Given the description of an element on the screen output the (x, y) to click on. 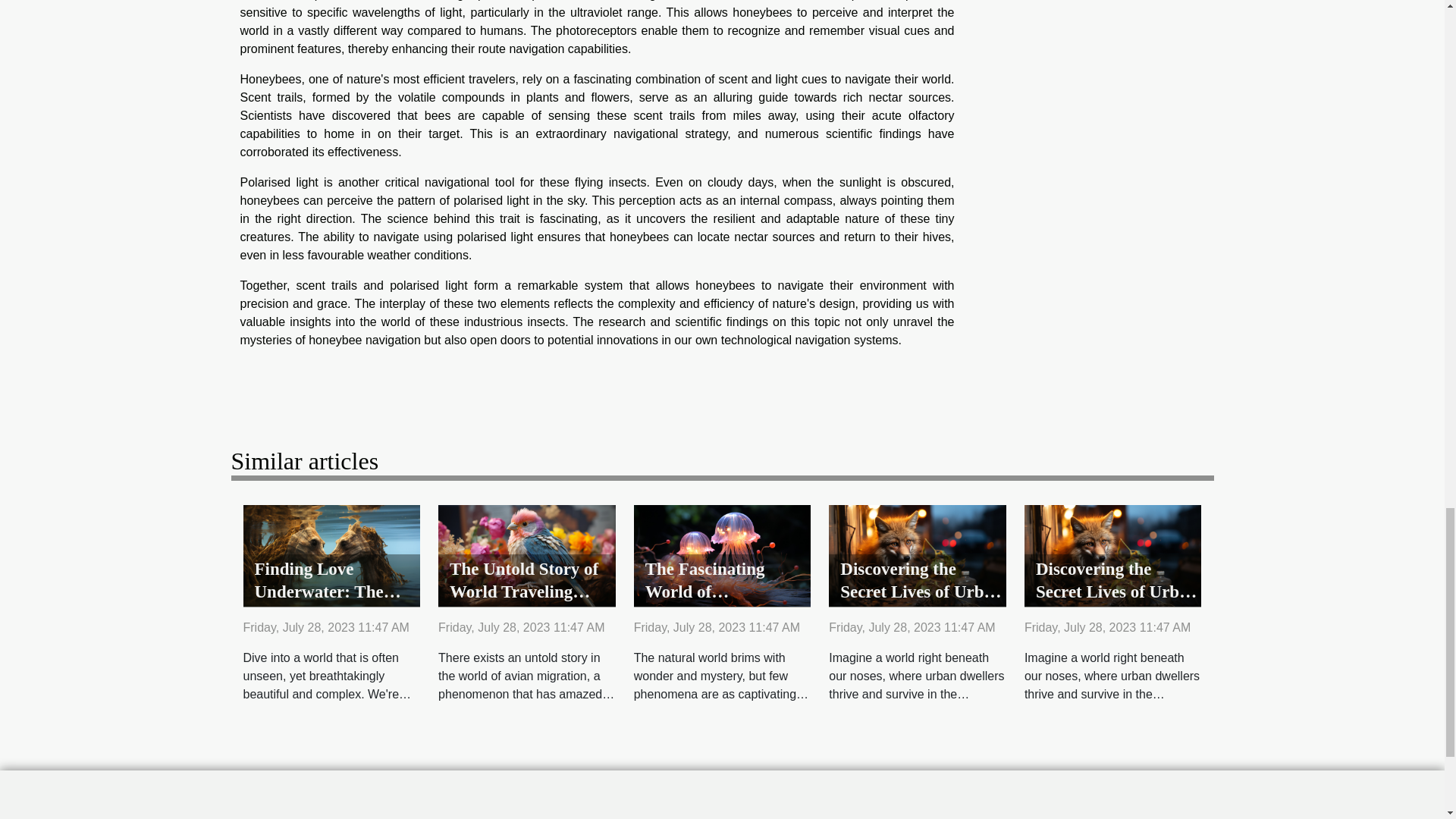
The Untold Story of World Traveling Birds (526, 554)
Discovering the Secret Lives of Urban Foxes (1116, 591)
Discovering the Secret Lives of Urban Foxes (921, 591)
Finding Love Underwater: The Mating Rituals of Sea Horses (335, 603)
Finding Love Underwater: The Mating Rituals of Sea Horses (331, 554)
Discovering the Secret Lives of Urban Foxes (917, 554)
The Fascinating World of Bioluminescent Creatures (705, 603)
The Untold Story of World Traveling Birds (523, 591)
Discovering the Secret Lives of Urban Foxes (921, 591)
Discovering the Secret Lives of Urban Foxes (1113, 554)
The Fascinating World of Bioluminescent Creatures (721, 554)
Finding Love Underwater: The Mating Rituals of Sea Horses (335, 603)
The Untold Story of World Traveling Birds (523, 591)
The Fascinating World of Bioluminescent Creatures (705, 603)
